Given the description of an element on the screen output the (x, y) to click on. 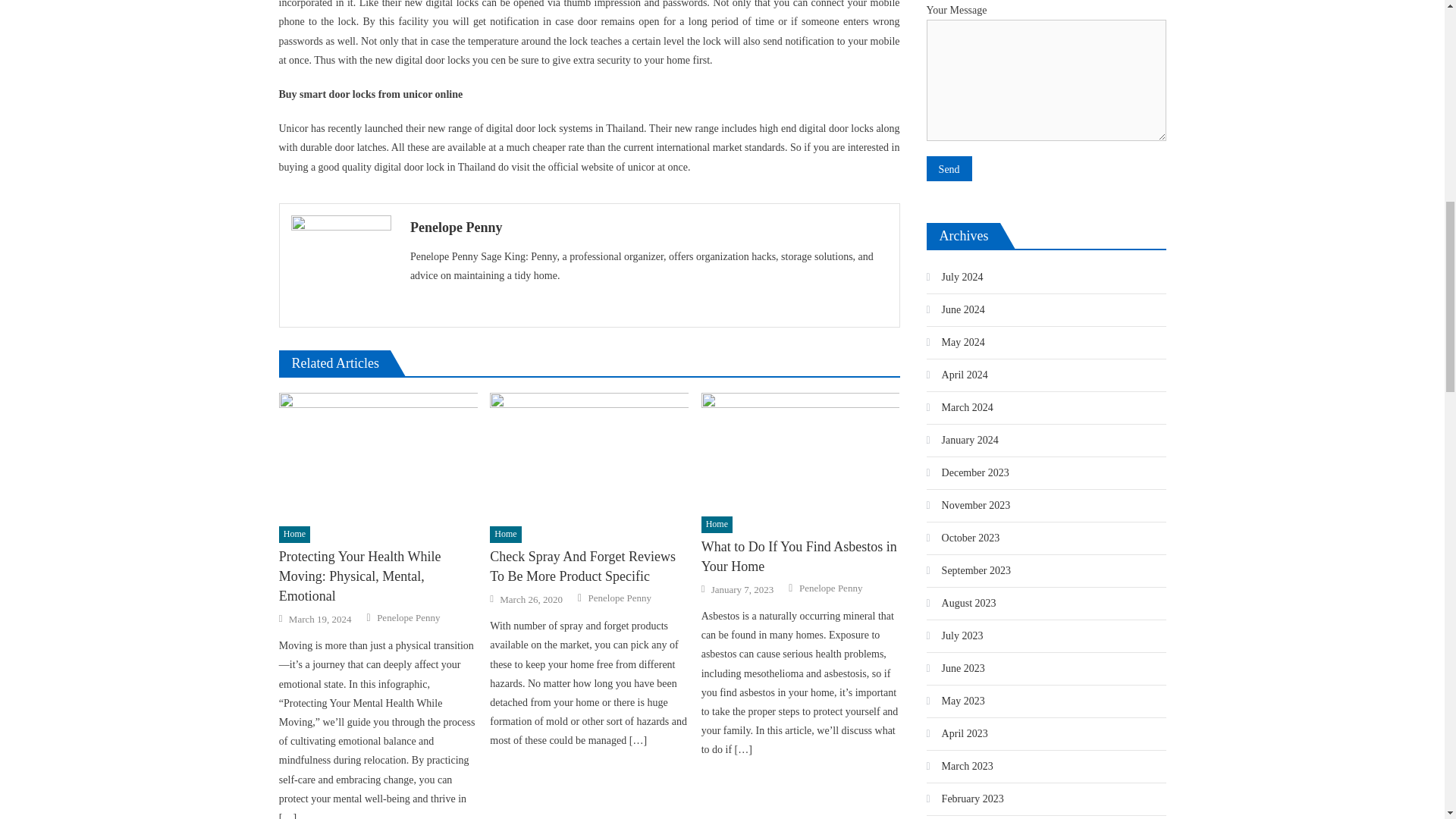
What to Do If You Find Asbestos in Your Home (800, 556)
March 26, 2020 (530, 599)
Send (949, 168)
Check Spray And Forget Reviews To Be More Product Specific (588, 454)
Penelope Penny (830, 588)
Penelope Penny (408, 617)
Penelope Penny (619, 598)
What to Do If You Find Asbestos in Your Home (800, 449)
Home (716, 524)
Penelope Penny (649, 227)
